Given the description of an element on the screen output the (x, y) to click on. 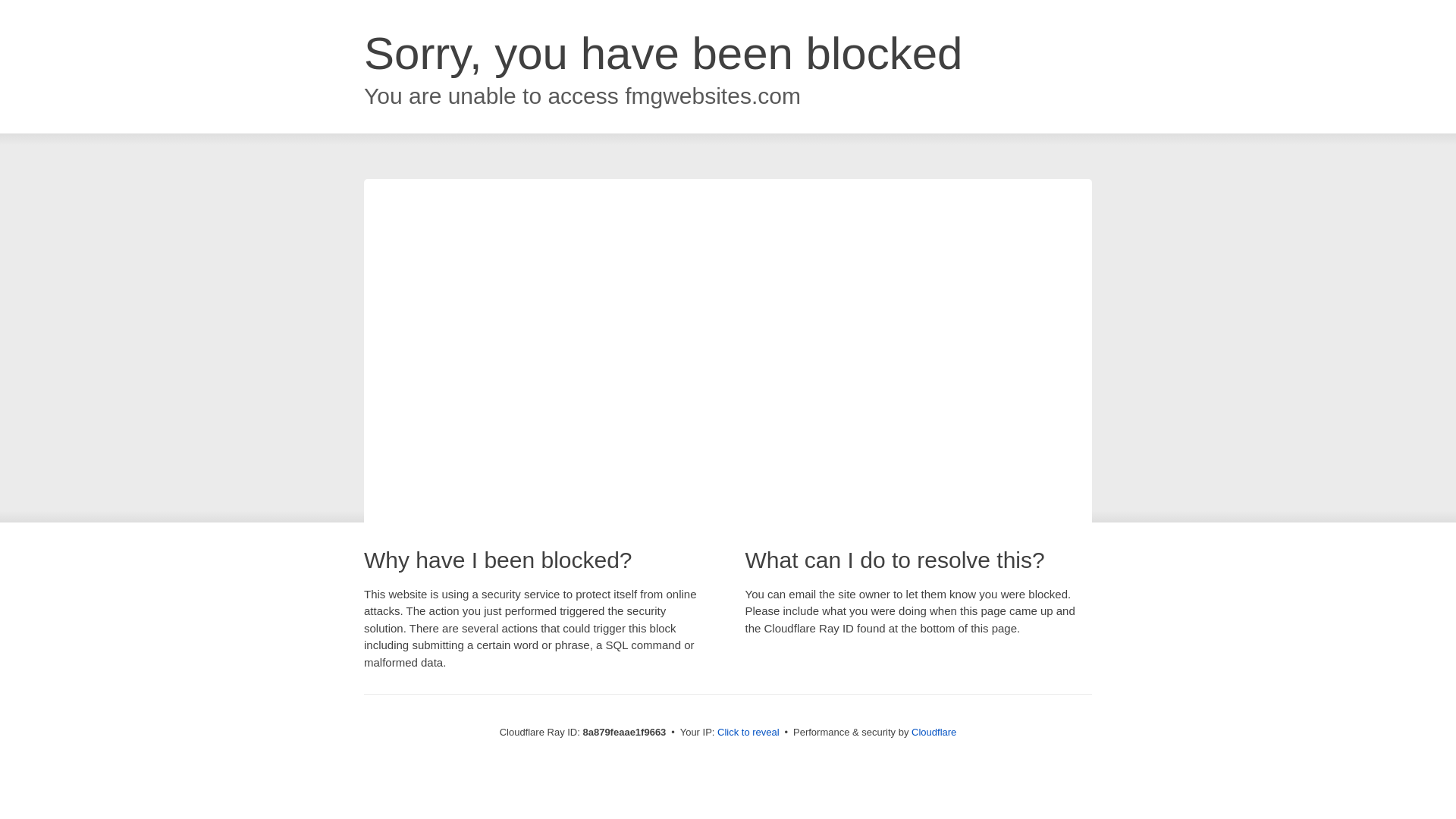
Click to reveal (747, 732)
Cloudflare (933, 731)
